Given the description of an element on the screen output the (x, y) to click on. 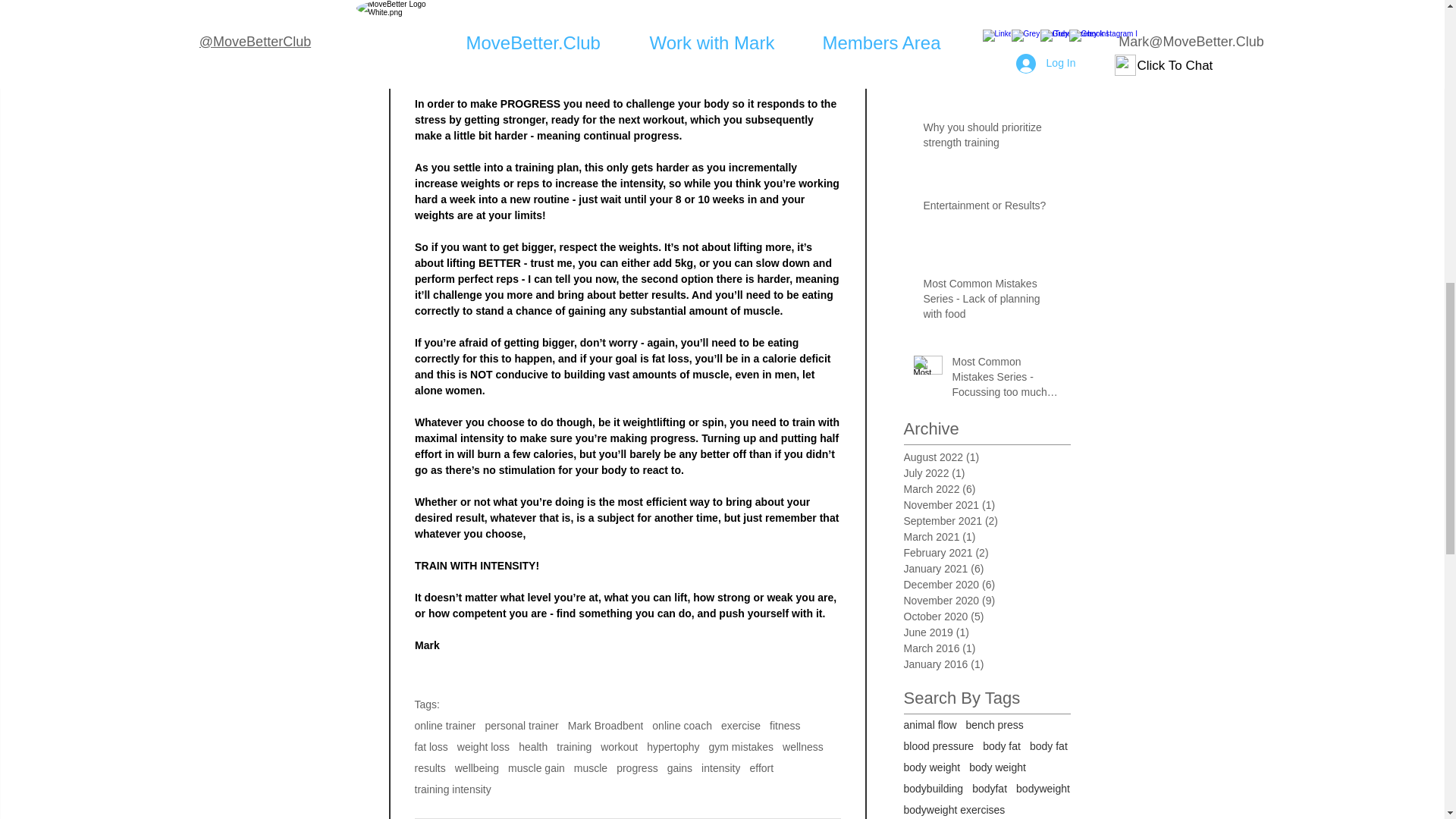
training (573, 746)
intensity (720, 767)
wellbeing (476, 767)
wellness (803, 746)
gym mistakes (741, 746)
online trainer (444, 725)
personal trainer (520, 725)
muscle gain (536, 767)
effort (761, 767)
Mark Broadbent (605, 725)
